Given the description of an element on the screen output the (x, y) to click on. 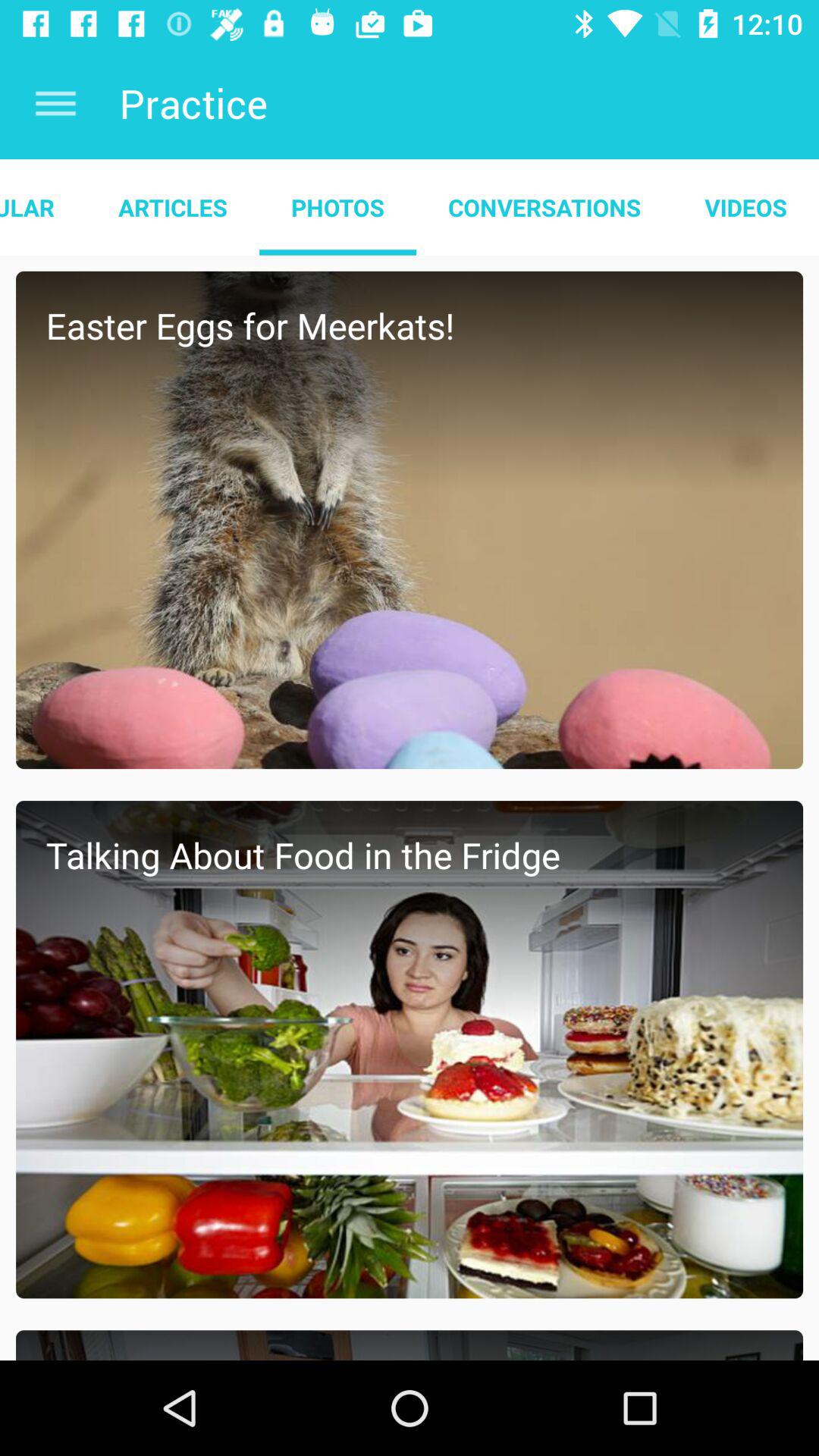
turn on popular app (43, 207)
